Given the description of an element on the screen output the (x, y) to click on. 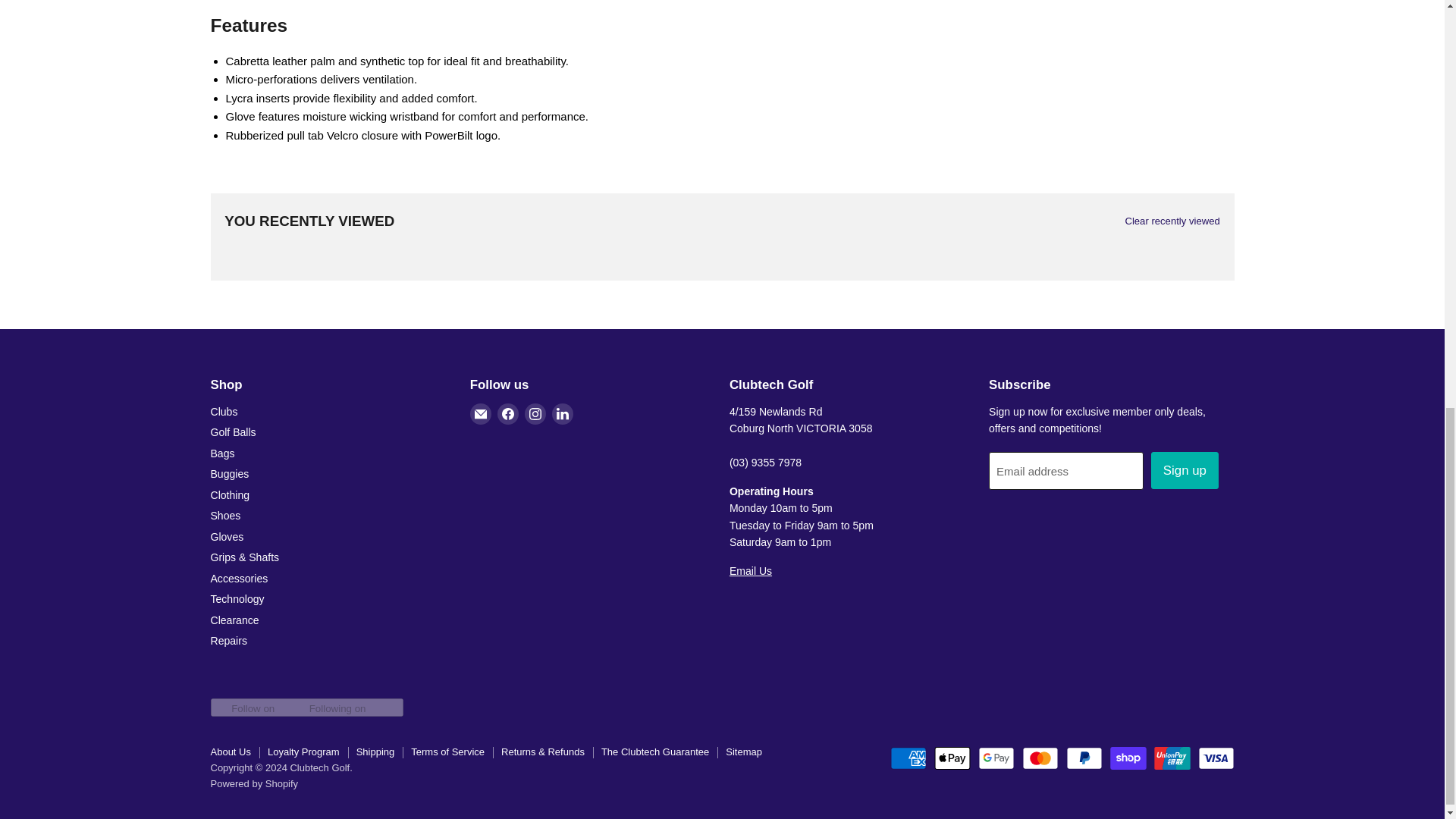
Instagram (535, 414)
Email (481, 414)
LinkedIn (562, 414)
Facebook (507, 414)
